Given the description of an element on the screen output the (x, y) to click on. 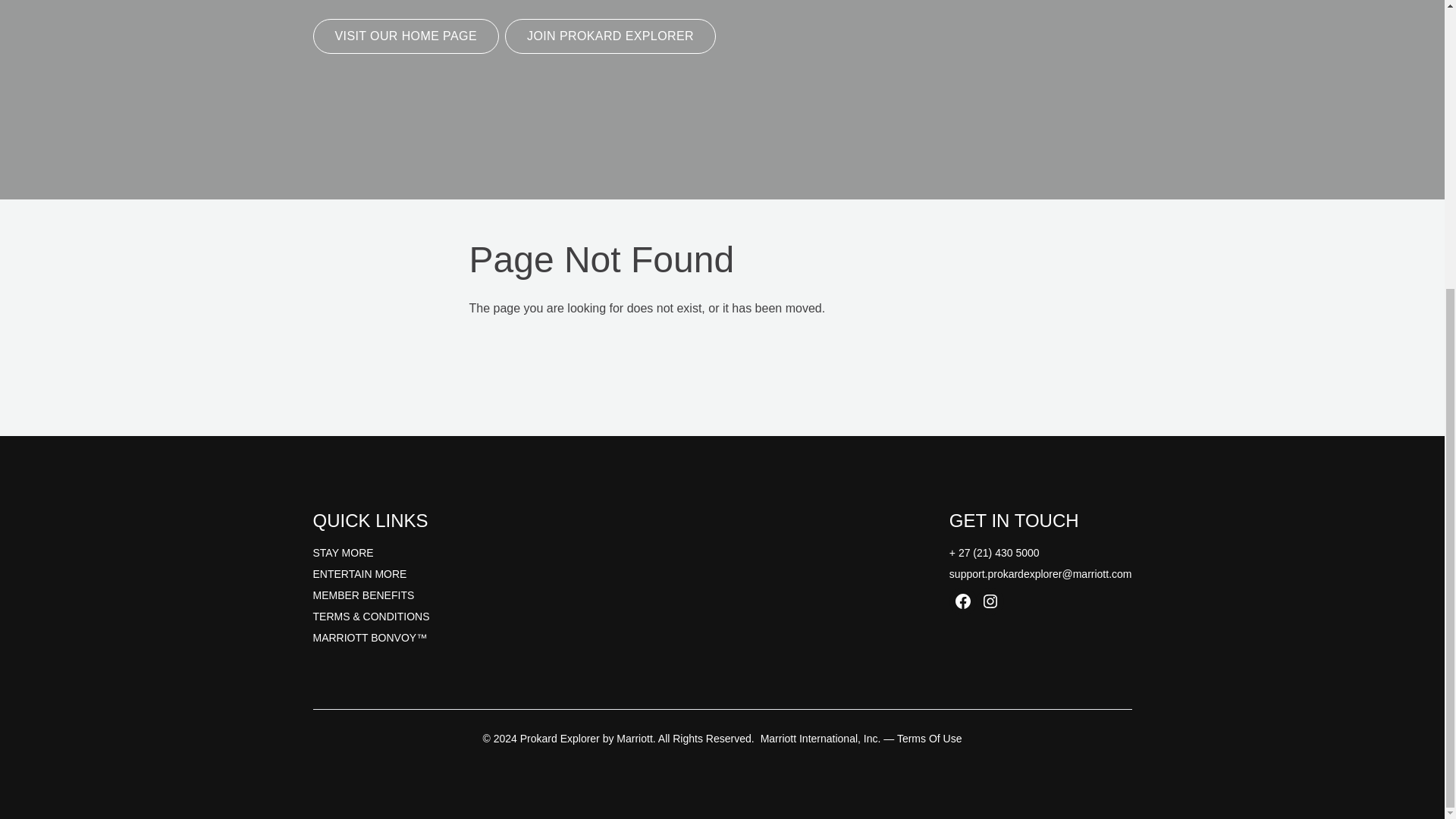
STAY MORE (342, 552)
ENTERTAIN MORE (359, 573)
FACEBOOK (962, 601)
INSTAGRAM (990, 601)
MEMBER BENEFITS (363, 594)
MARRIOTT BONVOY (364, 637)
JOIN PROKARD EXPLORER (610, 35)
VISIT OUR HOME PAGE (405, 35)
